Given the description of an element on the screen output the (x, y) to click on. 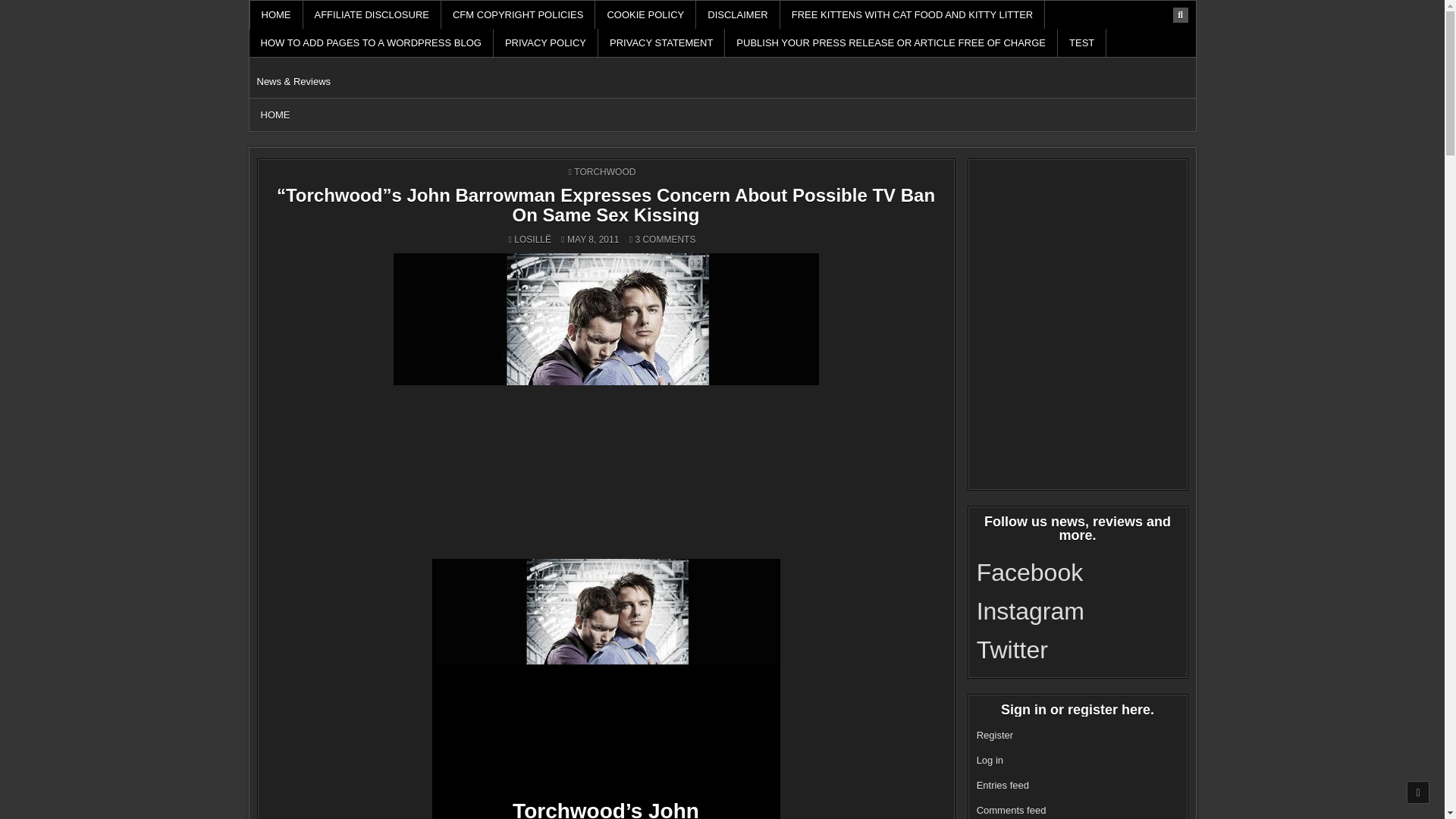
AFFILIATE DISCLOSURE (371, 14)
SCROLL TO TOP (1417, 792)
PUBLISH YOUR PRESS RELEASE OR ARTICLE FREE OF CHARGE (891, 42)
DISCLAIMER (736, 14)
HOW TO ADD PAGES TO A WORDPRESS BLOG (370, 42)
PRIVACY POLICY (545, 42)
CFM COPYRIGHT POLICIES (518, 14)
Instagram     (1044, 615)
COOKIE POLICY (645, 14)
HOME (275, 14)
